Given the description of an element on the screen output the (x, y) to click on. 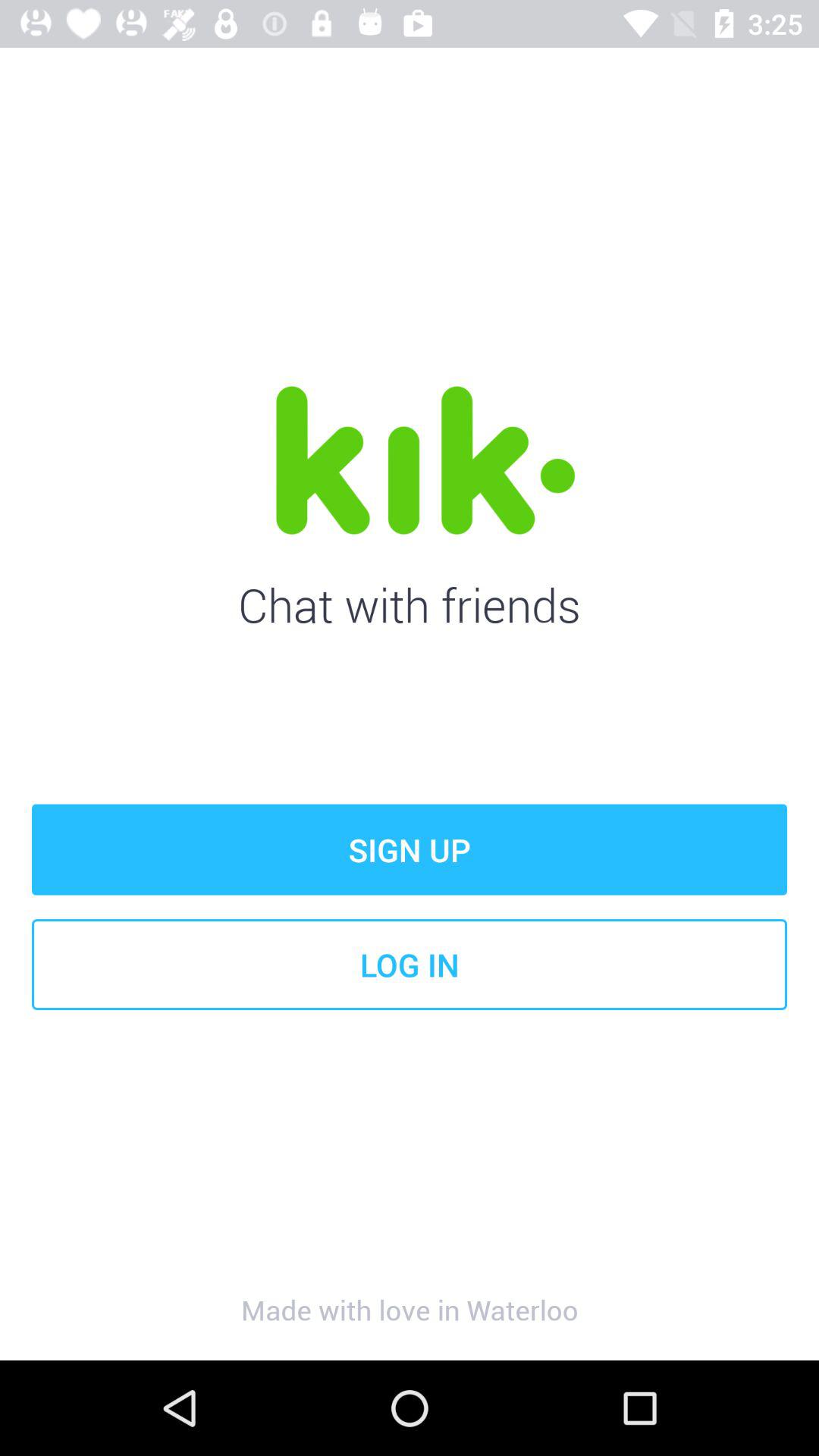
tap the item below sign up (409, 964)
